Given the description of an element on the screen output the (x, y) to click on. 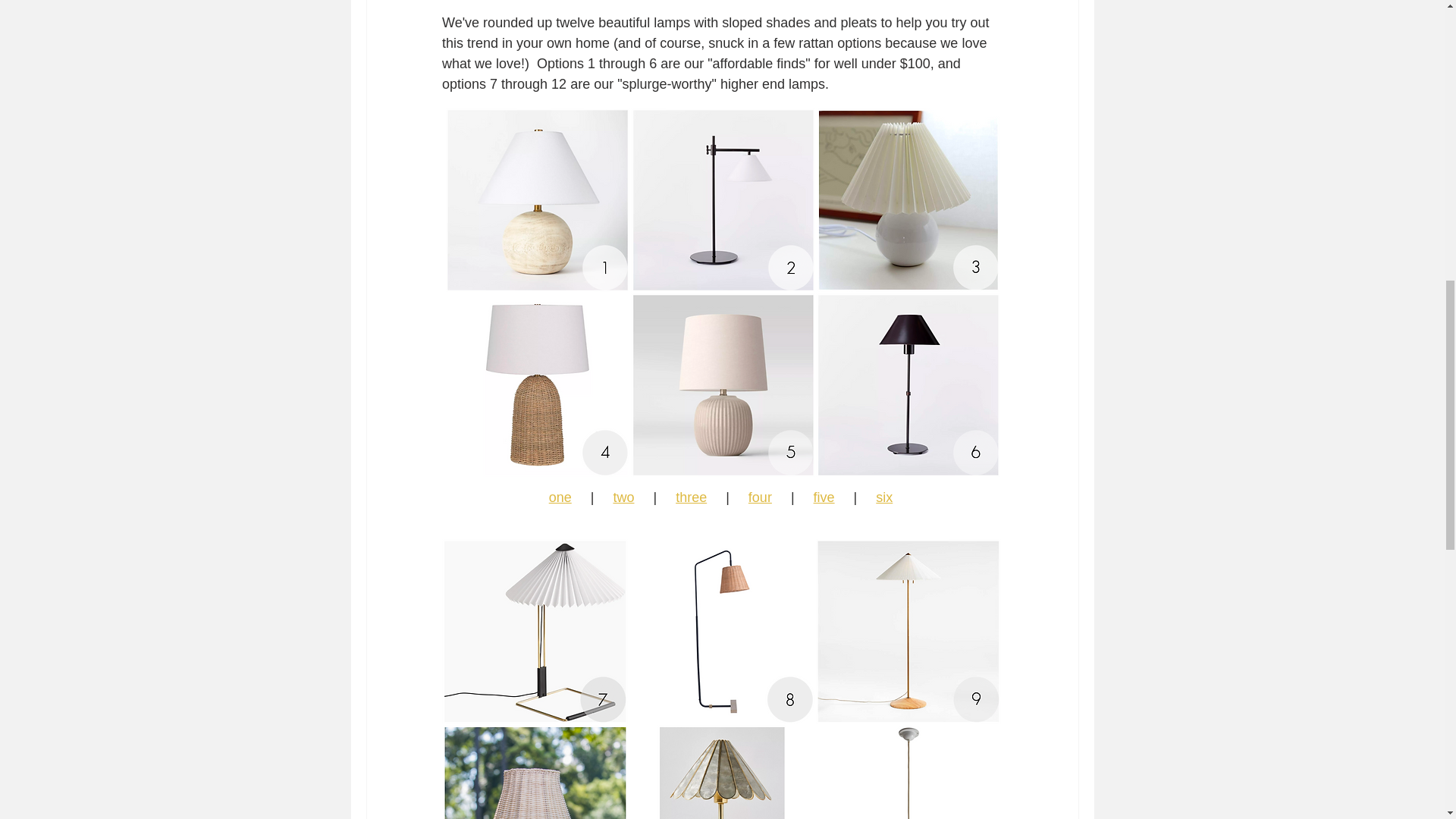
one (559, 497)
four (759, 497)
three (690, 497)
six (884, 497)
five (823, 497)
two (622, 497)
